Given the description of an element on the screen output the (x, y) to click on. 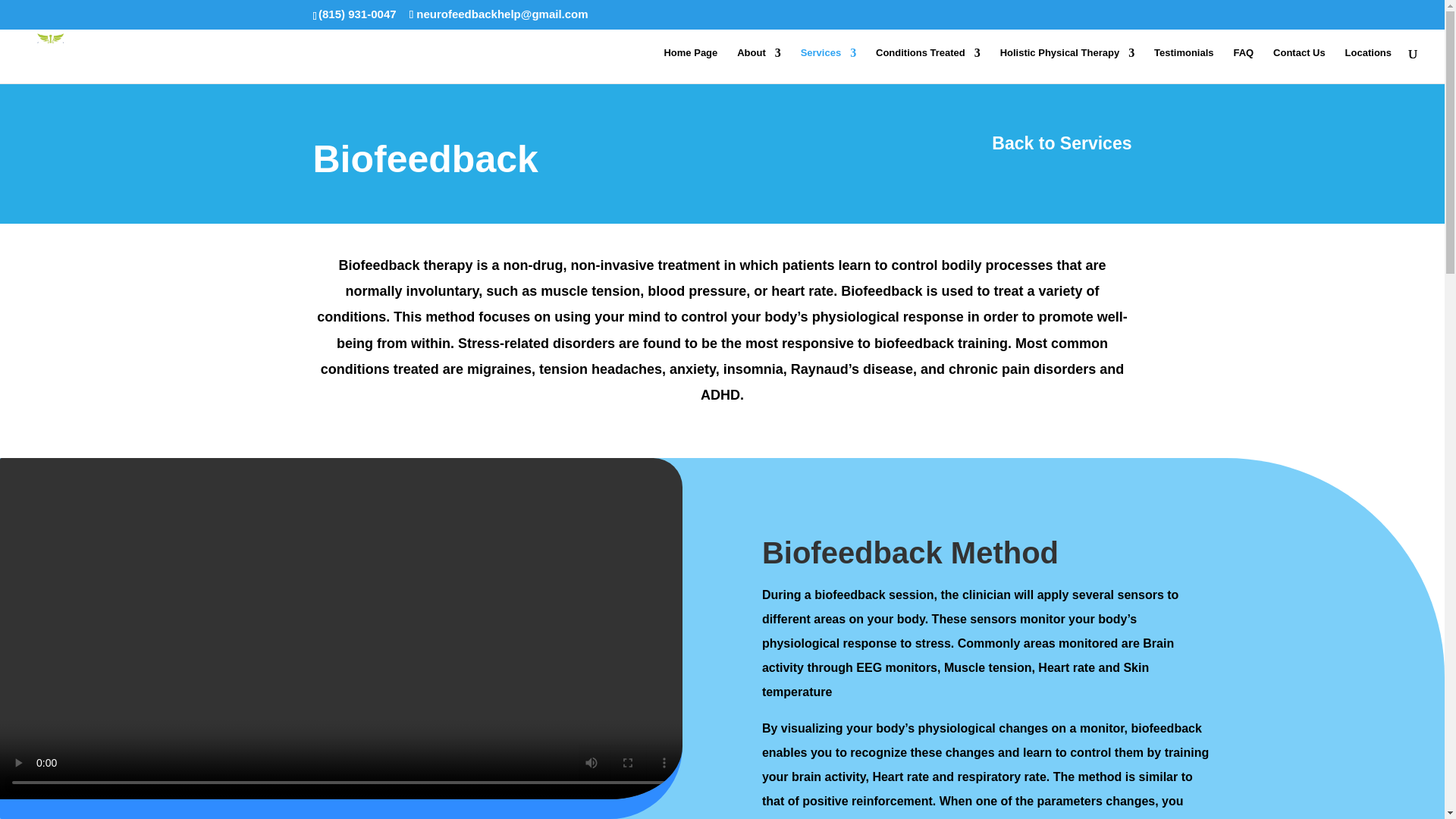
Services (828, 65)
About (758, 65)
Testimonials (1184, 65)
Contact Us (1298, 65)
Conditions Treated (927, 65)
Home Page (690, 65)
Holistic Physical Therapy (1067, 65)
Back to Services (1061, 143)
mega-menu (828, 65)
Locations (1368, 65)
